Given the description of an element on the screen output the (x, y) to click on. 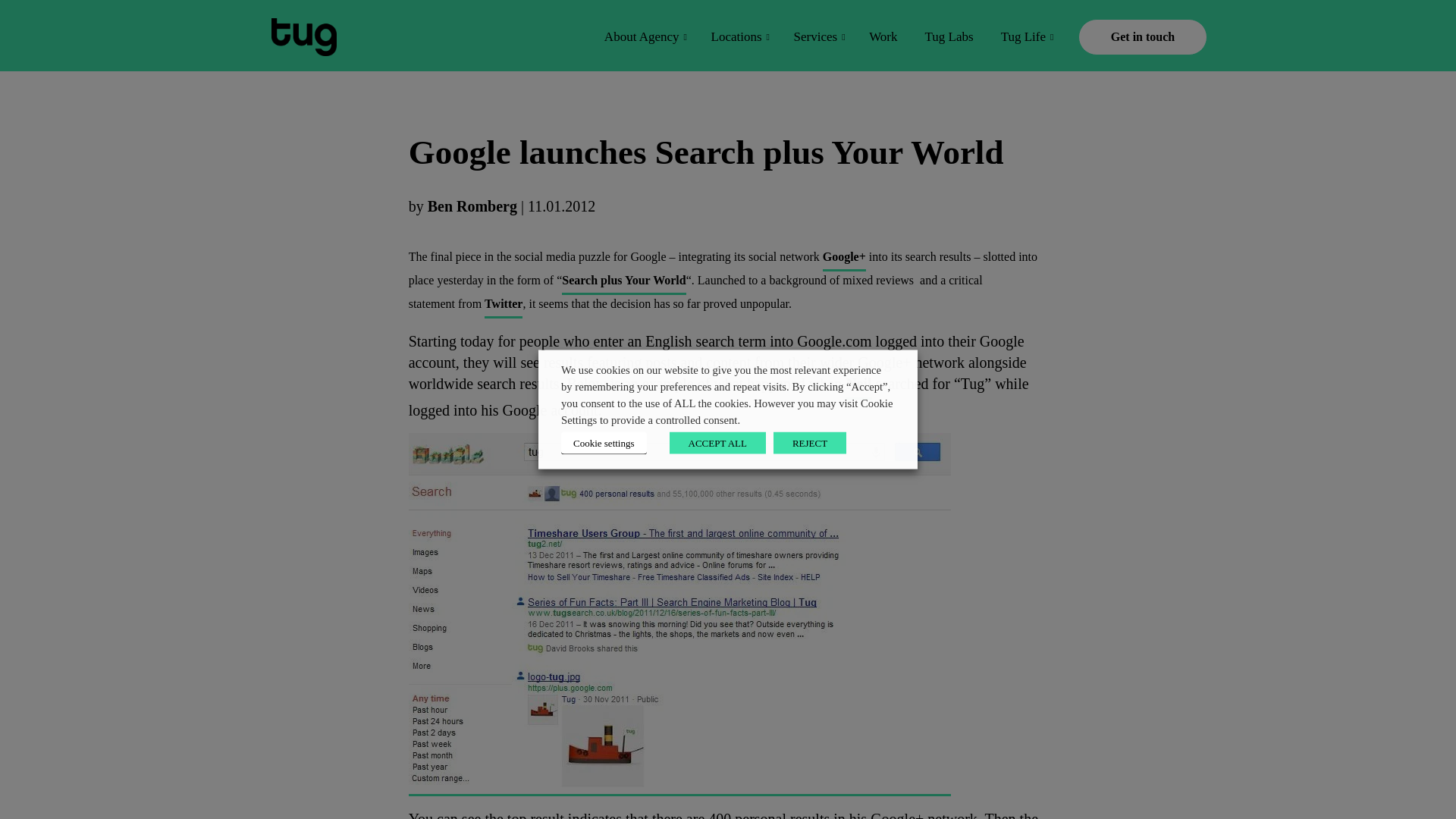
Twitter (503, 306)
Tug Labs (949, 36)
Locations (738, 36)
Tug Life (1025, 36)
Work (883, 36)
About Agency (644, 36)
Search plus Your World (623, 282)
Get in touch (1142, 36)
Services (818, 36)
Neil (857, 386)
